Given the description of an element on the screen output the (x, y) to click on. 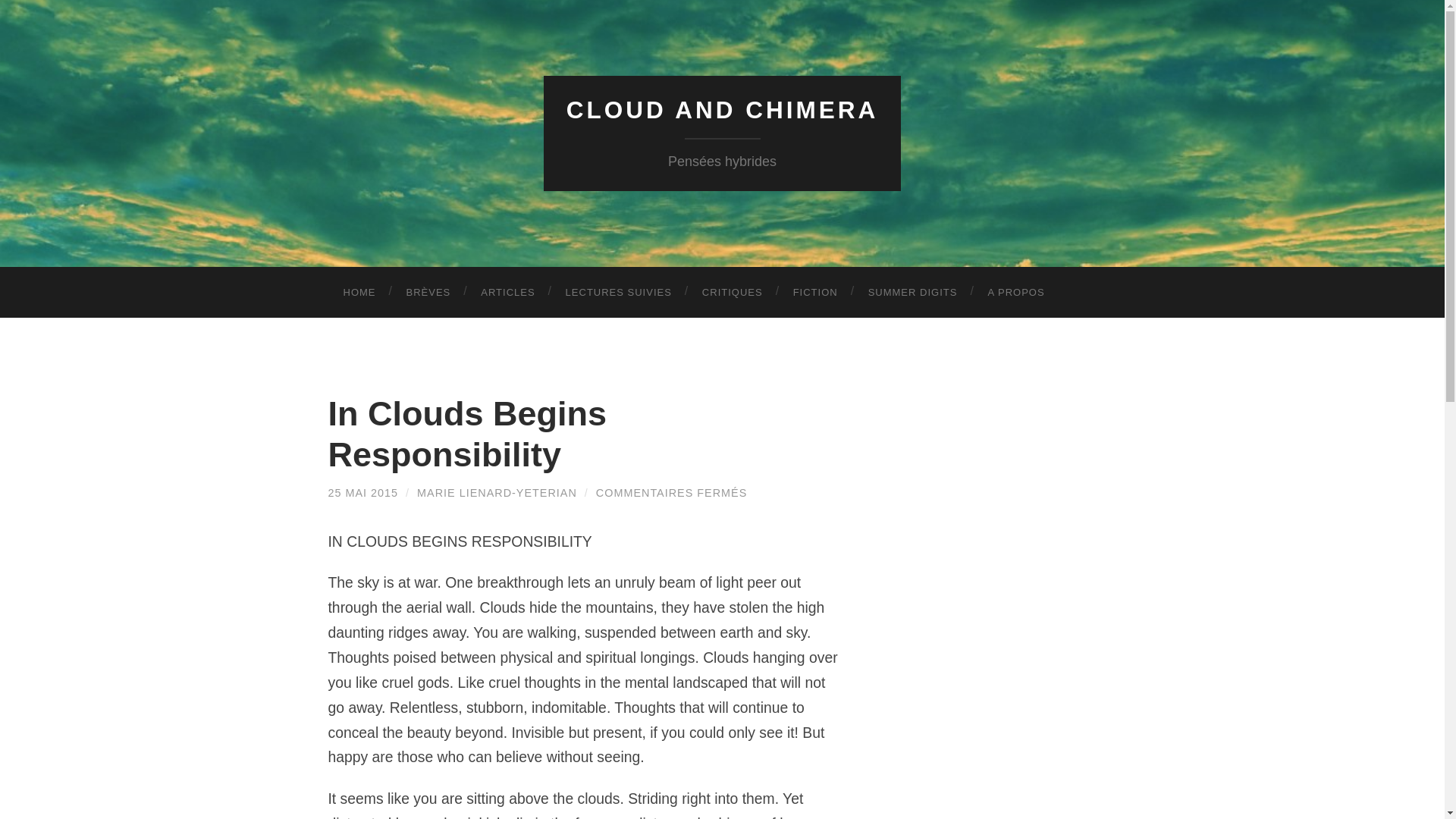
A PROPOS (1015, 291)
HOME (358, 291)
FICTION (815, 291)
CRITIQUES (732, 291)
Articles par Marie Lienard-Yeterian (496, 492)
In Clouds Begins Responsibility (467, 433)
ARTICLES (507, 291)
CLOUD AND CHIMERA (722, 109)
LECTURES SUIVIES (618, 291)
MARIE LIENARD-YETERIAN (496, 492)
